Given the description of an element on the screen output the (x, y) to click on. 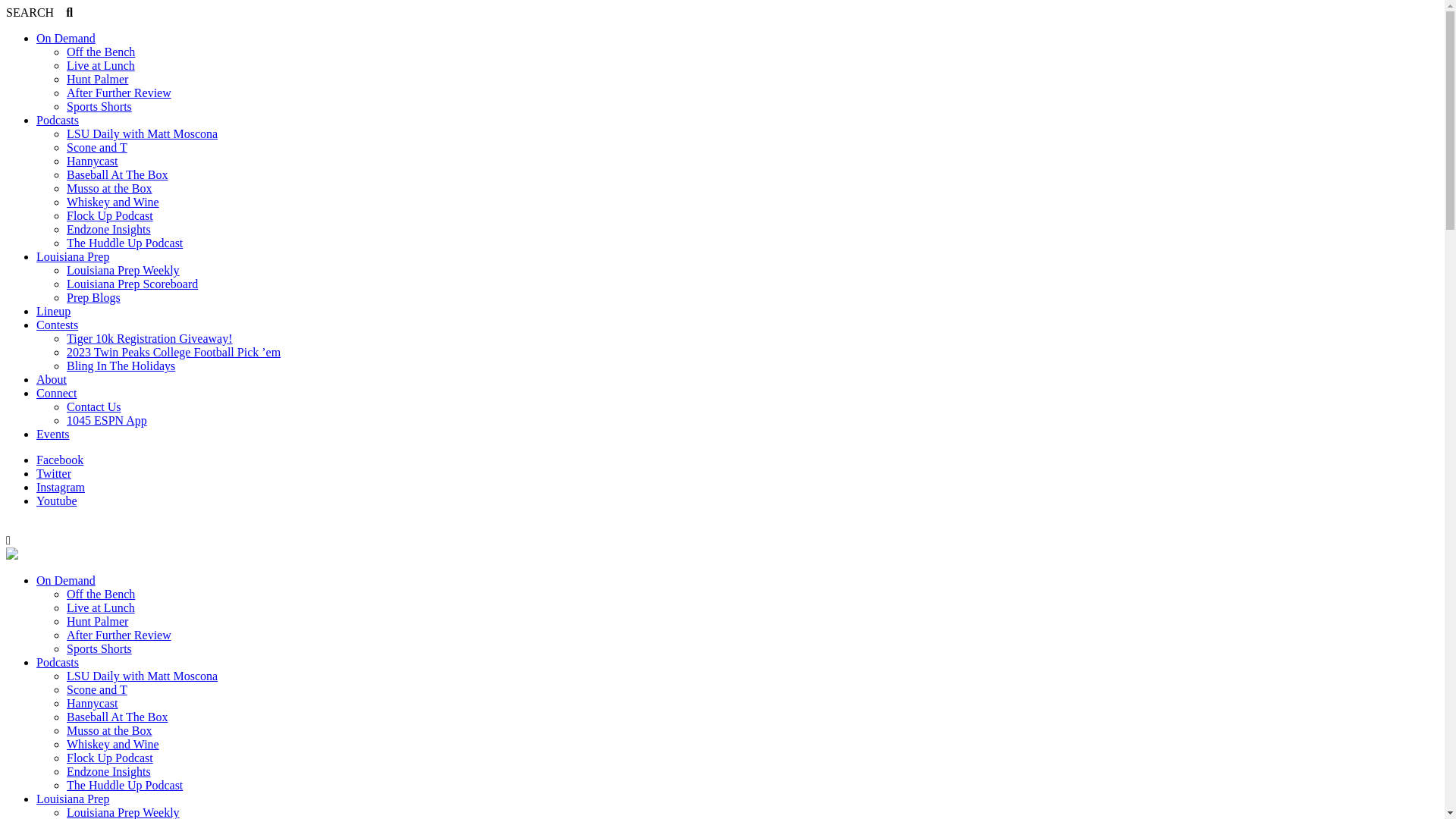
Endzone Insights Element type: text (108, 771)
Podcasts Element type: text (57, 661)
Whiskey and Wine Element type: text (112, 201)
Sports Shorts Element type: text (98, 106)
SEARCH Element type: text (39, 12)
Flock Up Podcast Element type: text (109, 215)
Events Element type: text (52, 433)
Live at Lunch Element type: text (100, 65)
Musso at the Box Element type: text (108, 188)
After Further Review Element type: text (118, 634)
On Demand Element type: text (65, 37)
Scone and T Element type: text (96, 689)
Hannycast Element type: text (92, 702)
Musso at the Box Element type: text (108, 730)
Live at Lunch Element type: text (100, 607)
The Huddle Up Podcast Element type: text (124, 242)
On Demand Element type: text (65, 580)
Flock Up Podcast Element type: text (109, 757)
Off the Bench Element type: text (100, 593)
Off the Bench Element type: text (100, 51)
Twitter Element type: text (53, 473)
Louisiana Prep Weekly Element type: text (122, 269)
Instagram Element type: text (60, 486)
Hunt Palmer Element type: text (97, 621)
Facebook Element type: text (59, 459)
Scone and T Element type: text (96, 147)
Sports Shorts Element type: text (98, 648)
Lineup Element type: text (53, 310)
Whiskey and Wine Element type: text (112, 743)
About Element type: text (51, 379)
Connect Element type: text (56, 392)
Louisiana Prep Scoreboard Element type: text (131, 283)
Hannycast Element type: text (92, 160)
After Further Review Element type: text (118, 92)
Youtube Element type: text (56, 500)
Podcasts Element type: text (57, 119)
1045 ESPN App Element type: text (106, 420)
Endzone Insights Element type: text (108, 228)
LSU Daily with Matt Moscona Element type: text (141, 675)
Louisiana Prep Element type: text (72, 256)
Louisiana Prep Element type: text (72, 798)
Bling In The Holidays Element type: text (120, 365)
Baseball At The Box Element type: text (116, 716)
Tiger 10k Registration Giveaway! Element type: text (149, 338)
Baseball At The Box Element type: text (116, 174)
LSU Daily with Matt Moscona Element type: text (141, 133)
Contact Us Element type: text (93, 406)
The Huddle Up Podcast Element type: text (124, 784)
Contests Element type: text (57, 324)
Prep Blogs Element type: text (93, 297)
Hunt Palmer Element type: text (97, 78)
